Given the description of an element on the screen output the (x, y) to click on. 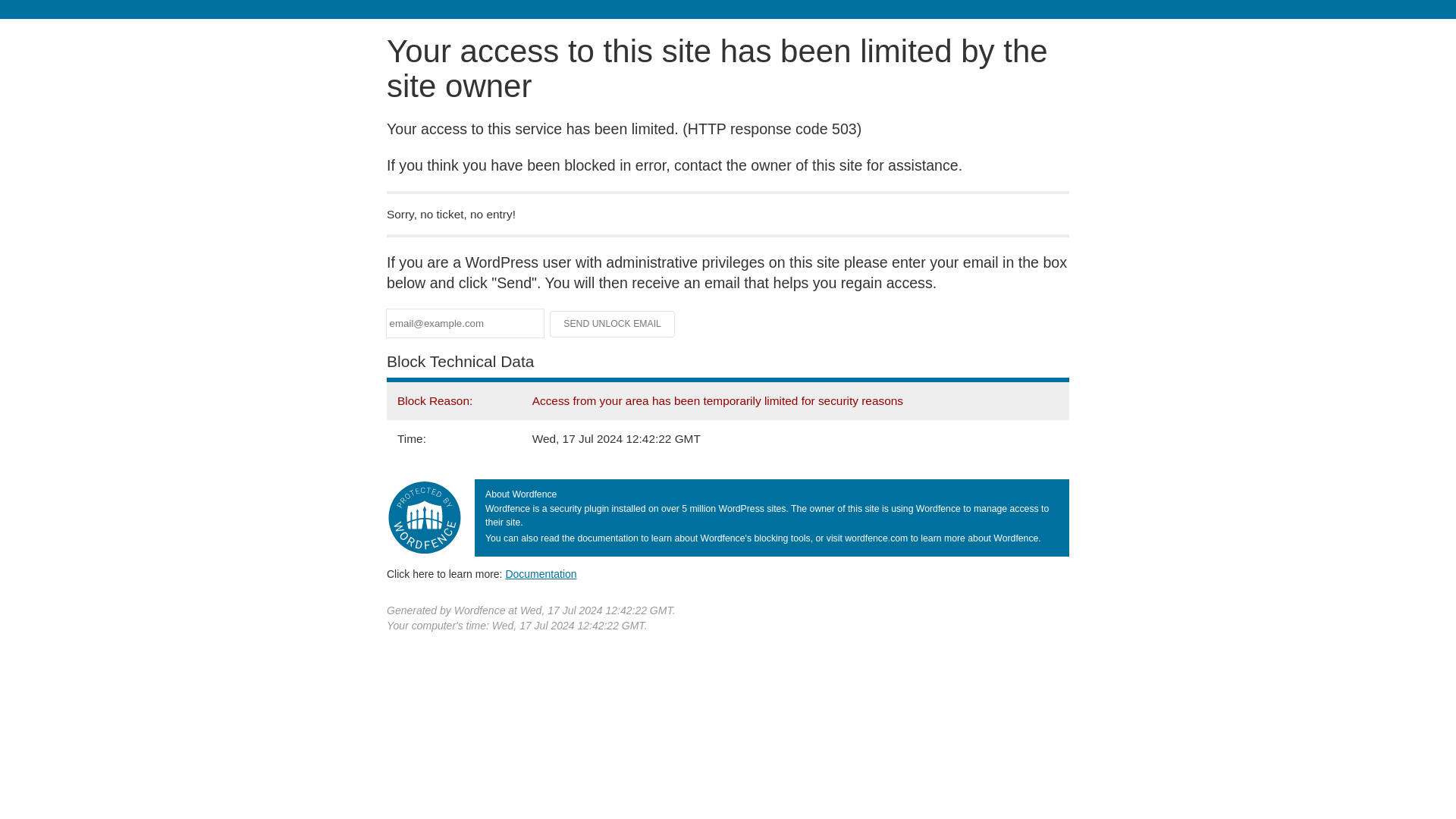
Send Unlock Email (612, 323)
Send Unlock Email (612, 323)
